Given the description of an element on the screen output the (x, y) to click on. 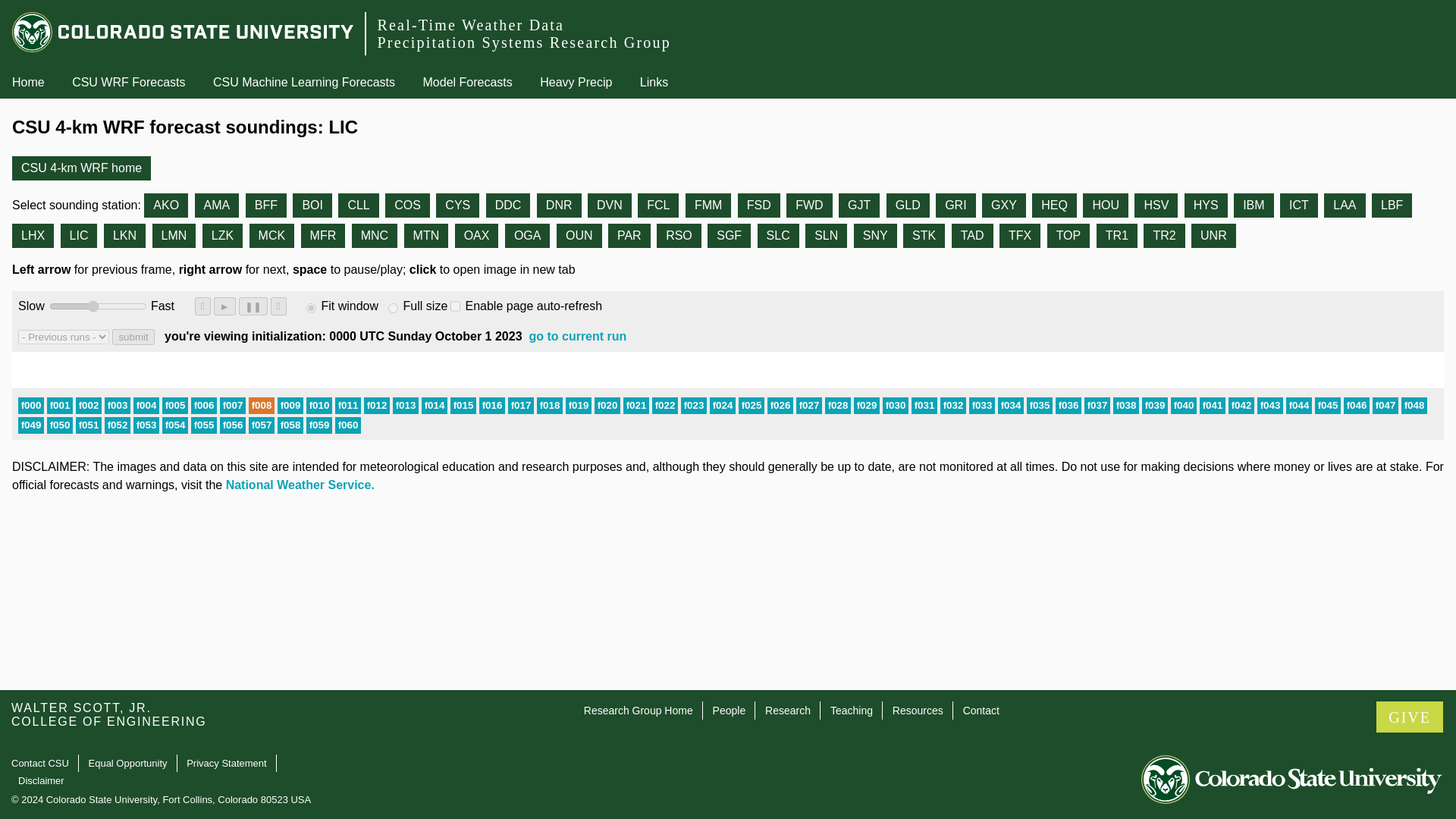
Heavy Precip (575, 82)
4 (98, 305)
CSU WRF Forecasts (127, 82)
submit (133, 336)
Real-Time Weather Data (470, 24)
CSU Machine Learning Forecasts (303, 82)
Links (653, 82)
Precipitation Systems Research Group (523, 42)
Home (28, 82)
Model Forecasts (467, 82)
